Given the description of an element on the screen output the (x, y) to click on. 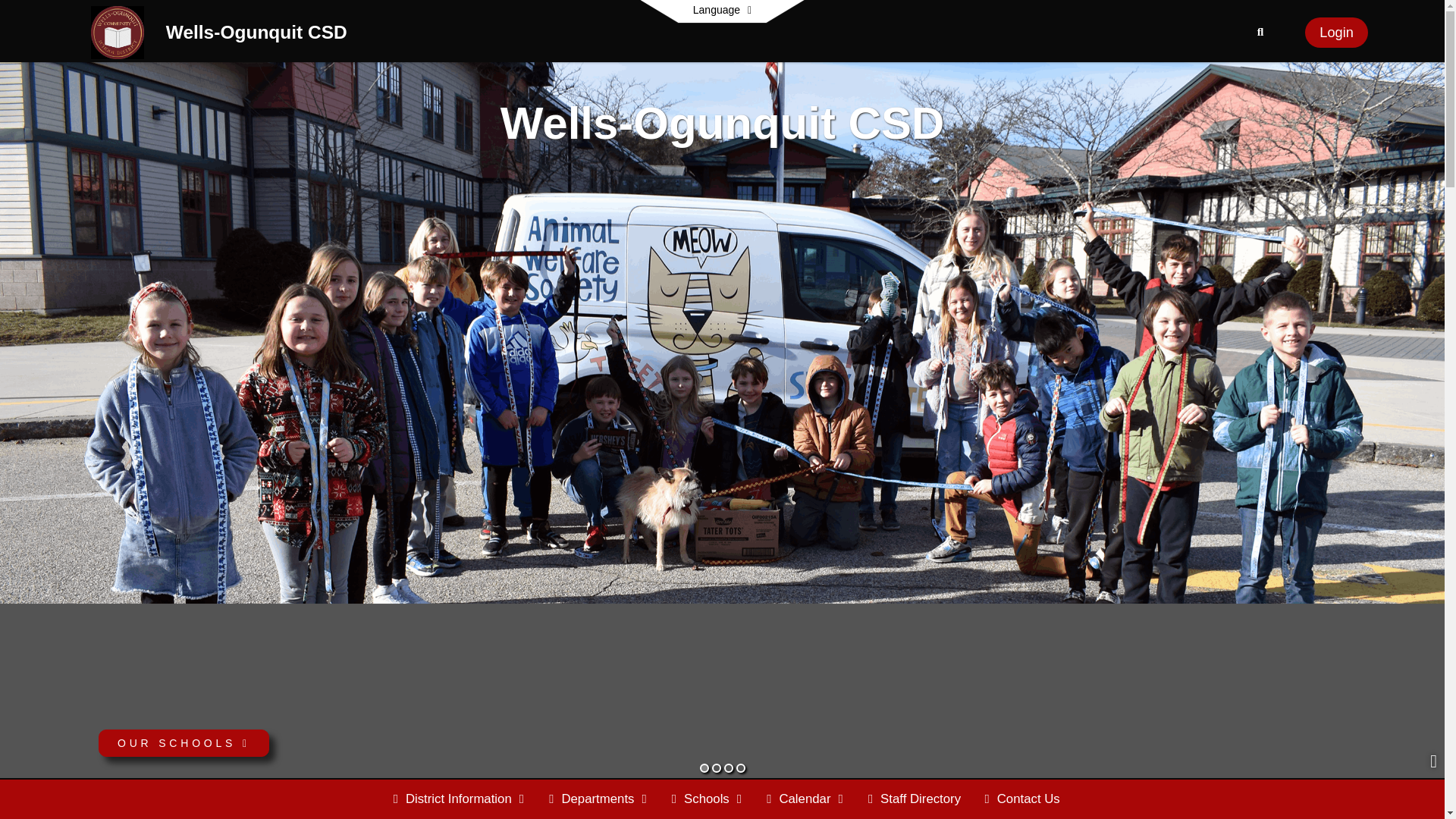
Schools (707, 799)
Wells-Ogunquit CSD (256, 34)
Calendar (804, 799)
Contact Us (1021, 799)
Staff Directory (914, 799)
Wells-Ogunquit CSD (256, 34)
Language (721, 11)
Wells-Ogunquit CSD (117, 31)
OUR SCHOOLS  (184, 742)
Login (1336, 32)
